Given the description of an element on the screen output the (x, y) to click on. 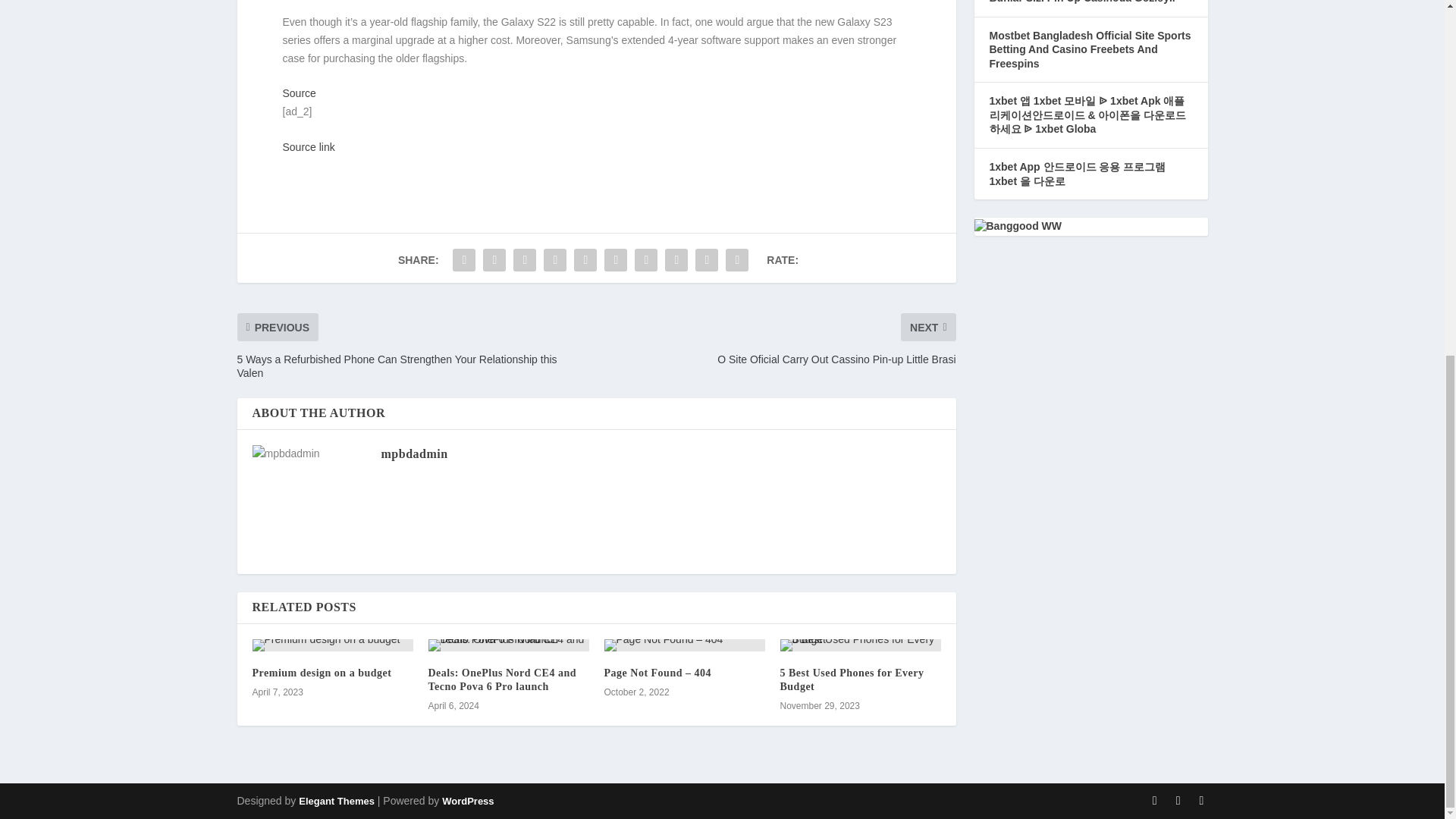
View all posts by mpbdadmin (413, 453)
Share "Samsung cuts Galaxy S22 prices in India" via LinkedIn (614, 259)
Source (298, 92)
Premium design on a budget (331, 645)
Share "Samsung cuts Galaxy S22 prices in India" via Print (737, 259)
Share "Samsung cuts Galaxy S22 prices in India" via Facebook (463, 259)
5 Best Used Phones for Every Budget (850, 679)
Deals: OnePlus Nord CE4 and Tecno Pova 6 Pro launch (502, 679)
